Given the description of an element on the screen output the (x, y) to click on. 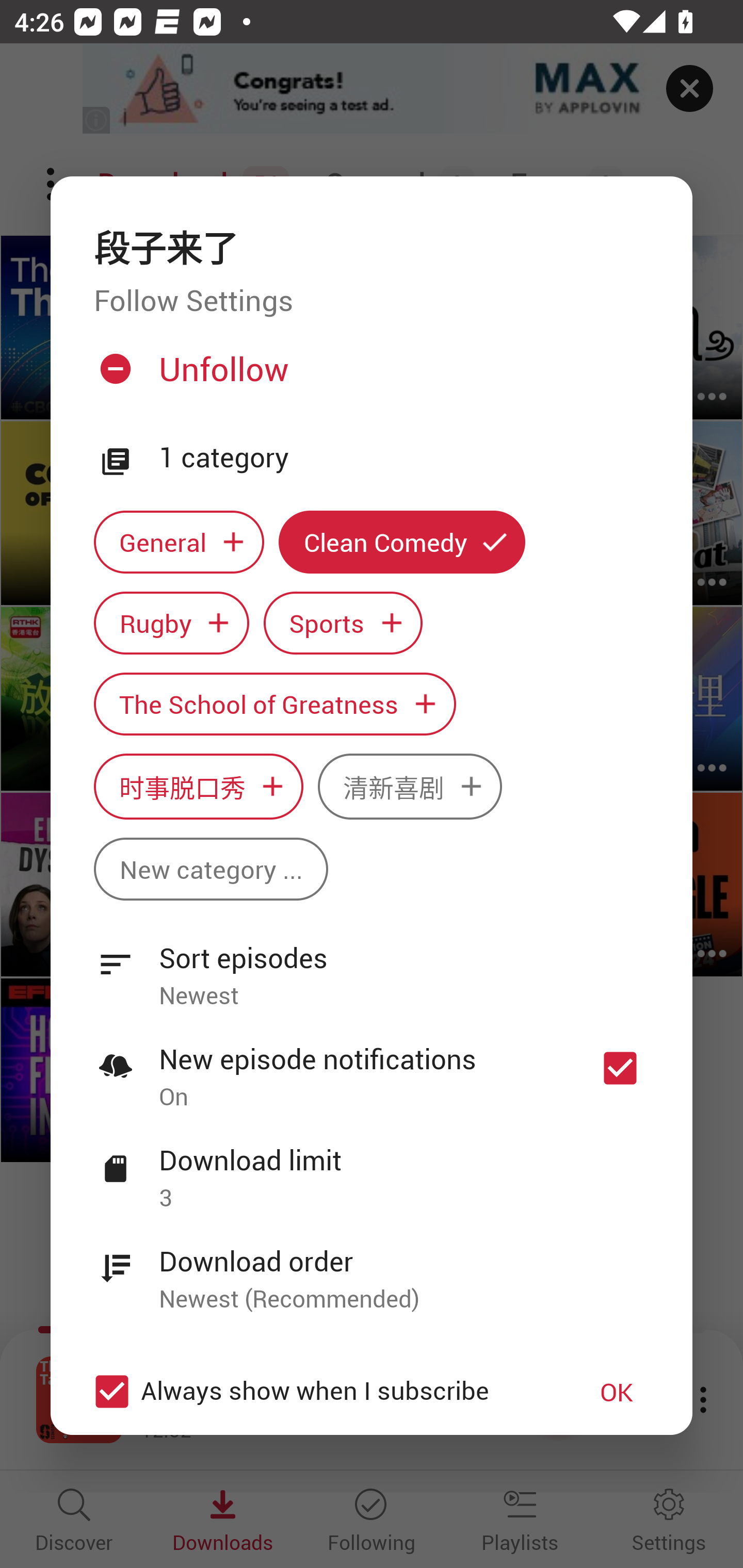
Unfollow (369, 376)
1 category (404, 457)
General (178, 542)
Clean Comedy (401, 542)
Rugby (170, 622)
Sports (342, 622)
The School of Greatness (274, 703)
时事脱口秀 (198, 787)
清新喜剧 (410, 787)
New category ... (210, 868)
Sort episodes Newest (371, 965)
New episode notifications (620, 1068)
Download limit 3 (371, 1167)
Download order Newest (Recommended) (371, 1268)
OK (616, 1391)
Always show when I subscribe (320, 1391)
